Given the description of an element on the screen output the (x, y) to click on. 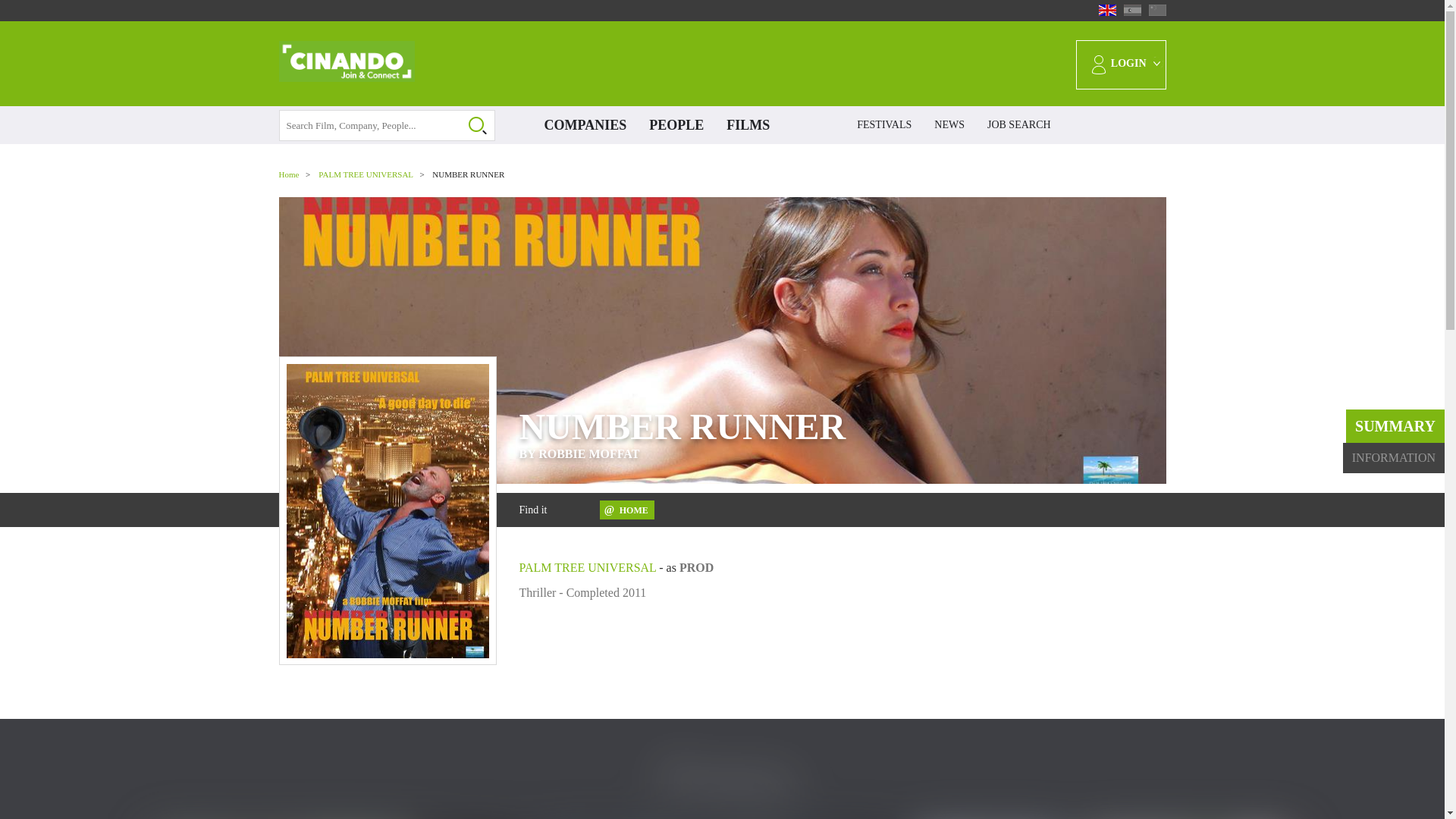
PALM TREE UNIVERSAL (587, 567)
JOB SEARCH (1019, 125)
PALM TREE UNIVERSAL (365, 174)
Home (289, 174)
FESTIVALS (884, 125)
FILMS (748, 125)
COMPANIES (585, 125)
HOME (626, 509)
Opens a widget where you can find more information (1386, 792)
PEOPLE (676, 125)
